Given the description of an element on the screen output the (x, y) to click on. 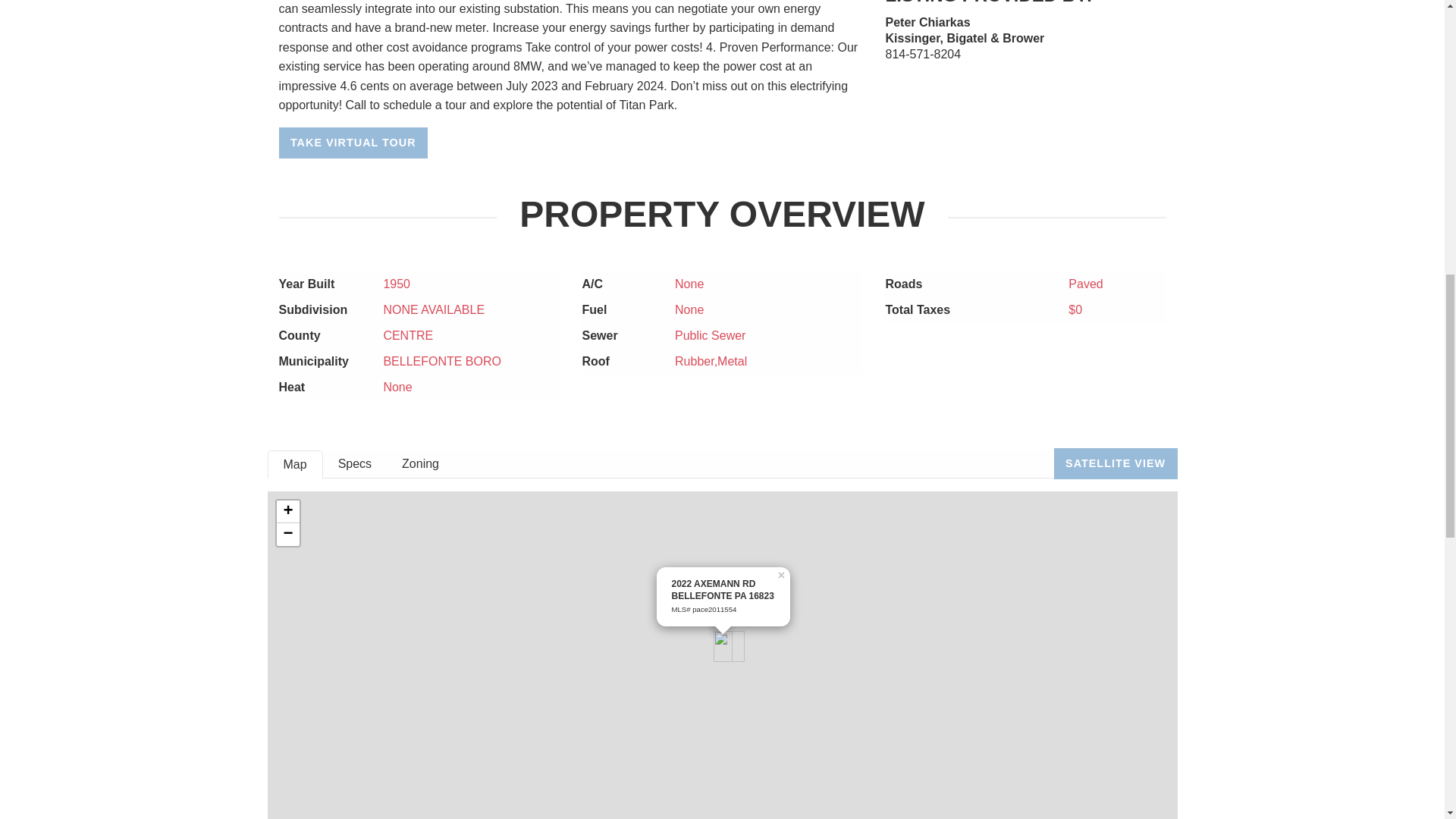
Zoom out (287, 534)
Zoom in (287, 511)
